Given the description of an element on the screen output the (x, y) to click on. 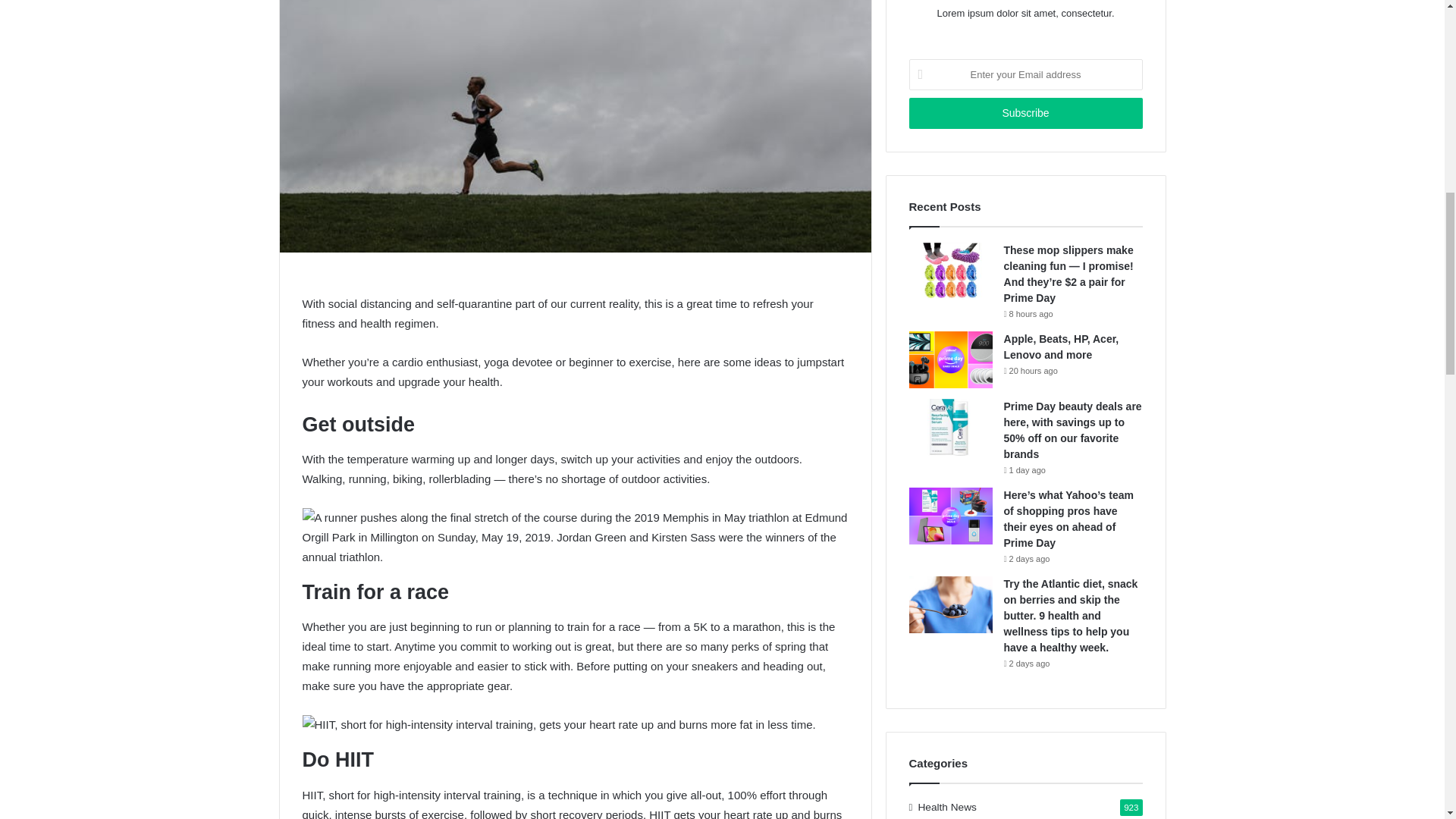
Subscribe (1025, 112)
